Given the description of an element on the screen output the (x, y) to click on. 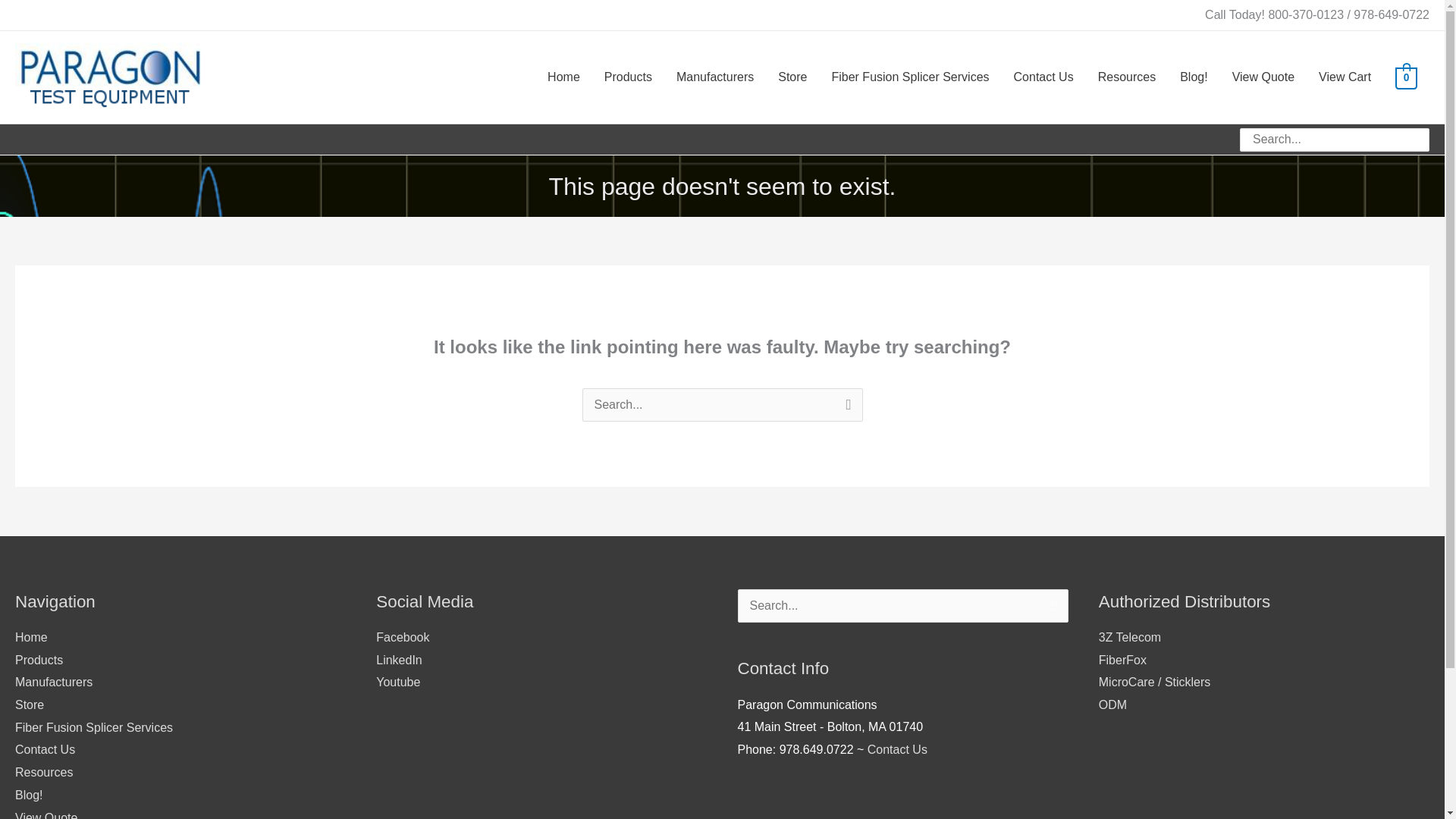
Home (563, 77)
LinkedIn (398, 659)
3Z Telecom (1129, 636)
Manufacturers (53, 681)
Home (31, 636)
0 (1405, 76)
Resources (43, 771)
FiberFox (1123, 659)
Manufacturers (714, 77)
Fiber Fusion Splicer Services (93, 727)
Blog! (1193, 77)
Contact Us (44, 748)
View Cart (1344, 77)
Blog! (28, 794)
Fiber Fusion Splicer Services (909, 77)
